Given the description of an element on the screen output the (x, y) to click on. 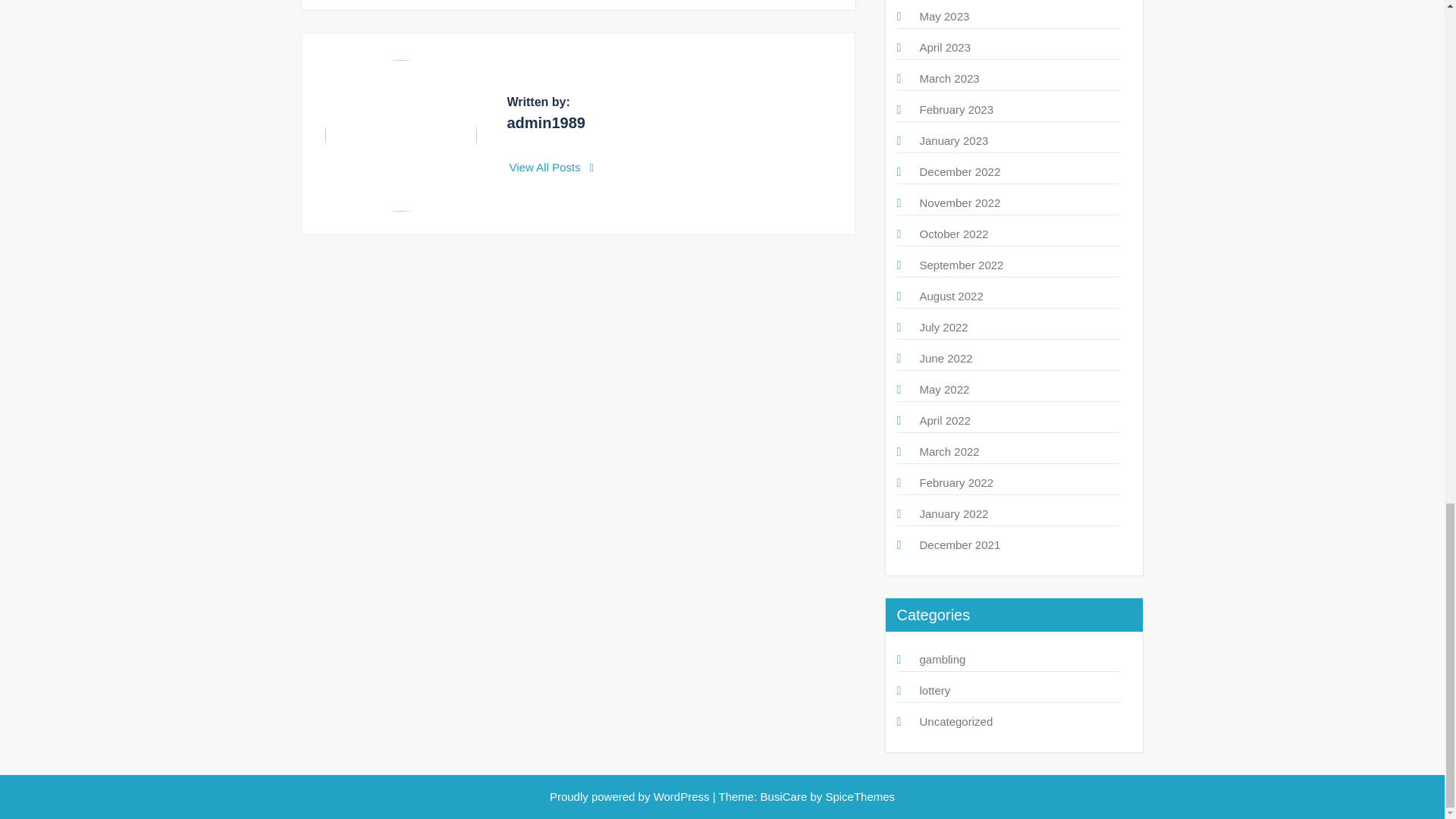
March 2023 (948, 78)
View All Posts (551, 166)
May 2023 (943, 15)
April 2023 (944, 47)
January 2023 (953, 140)
December 2022 (959, 171)
November 2022 (959, 202)
February 2023 (955, 109)
